Given the description of an element on the screen output the (x, y) to click on. 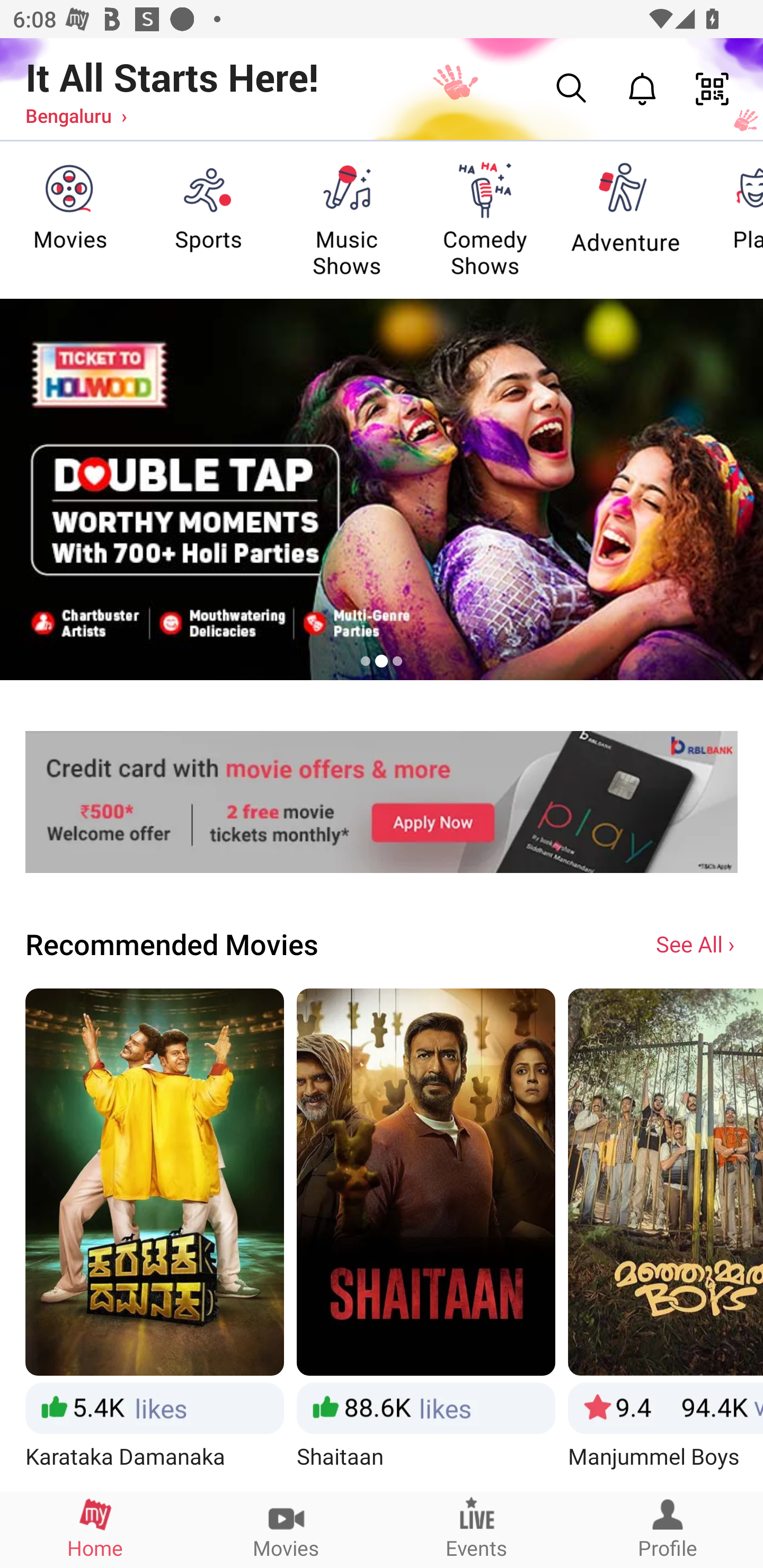
Bengaluru  › (76, 114)
See All › (696, 943)
Karataka Damanaka (154, 1239)
Shaitaan (425, 1239)
Manjummel Boys (665, 1239)
Home (95, 1529)
Movies (285, 1529)
Events (476, 1529)
Profile (667, 1529)
